Given the description of an element on the screen output the (x, y) to click on. 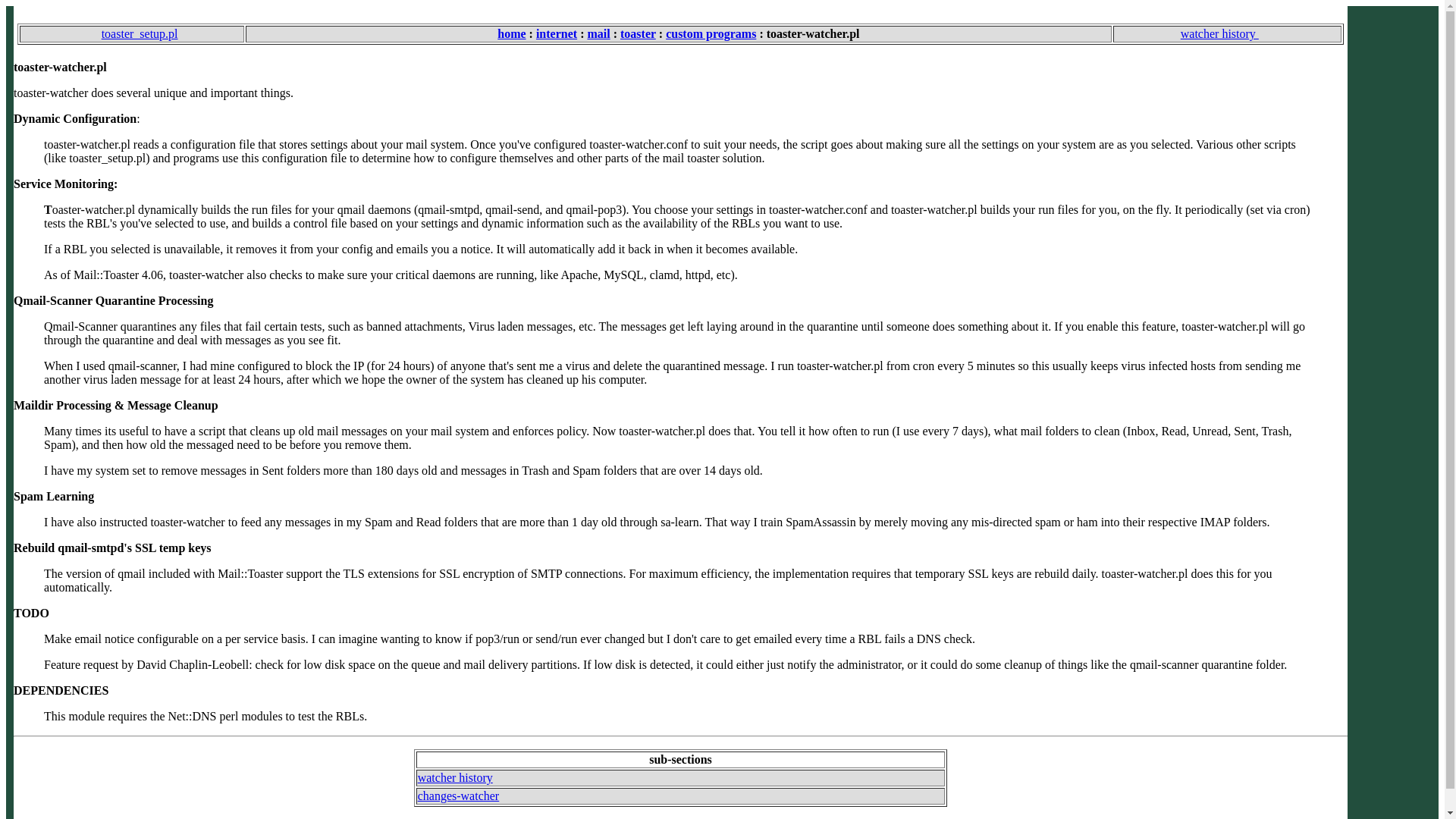
changes-watcher (458, 795)
mail (598, 33)
toaster (638, 33)
custom programs (710, 33)
watcher history (455, 777)
internet (555, 33)
watcher history (1227, 33)
home (511, 33)
